Given the description of an element on the screen output the (x, y) to click on. 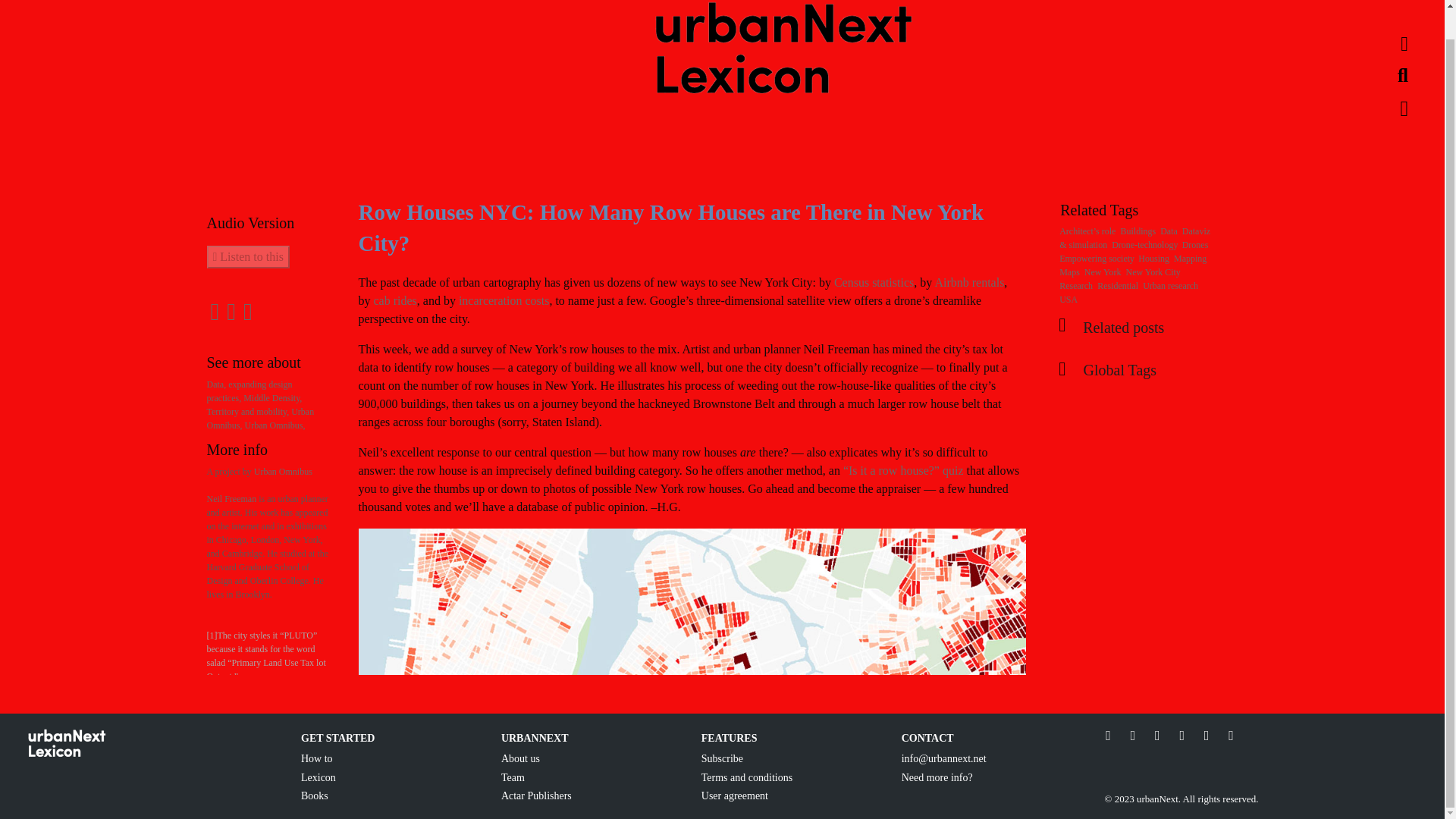
cab rides (394, 300)
Urban Omnibus (274, 425)
Census statistics (874, 282)
Neil Freeman (231, 498)
expanding design practices (249, 391)
Middle Density (272, 398)
Data (217, 384)
Urban Omnibus (260, 418)
incarceration costs (504, 300)
Airbnb rentals (969, 282)
